Given the description of an element on the screen output the (x, y) to click on. 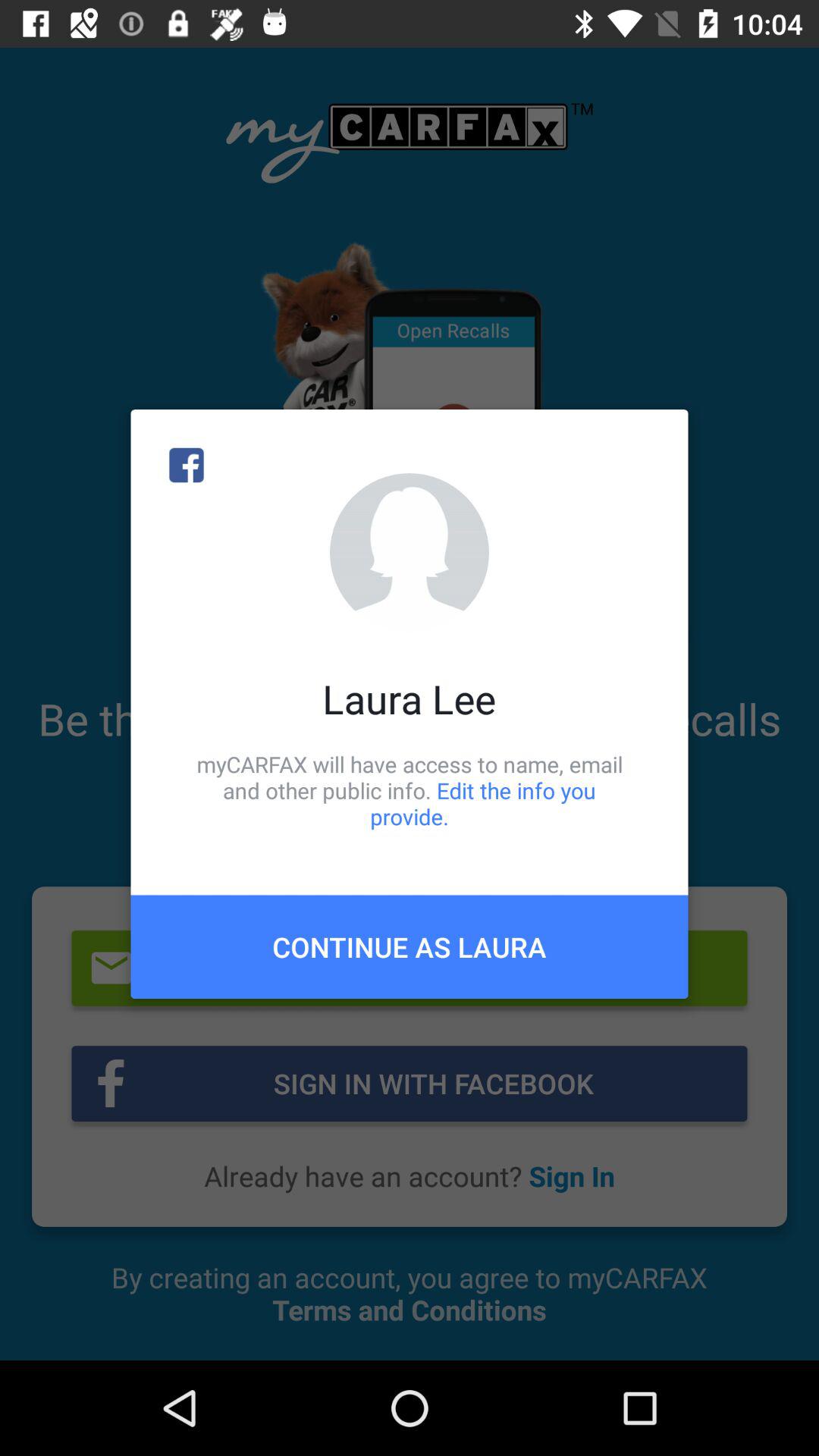
turn on continue as laura item (409, 946)
